Given the description of an element on the screen output the (x, y) to click on. 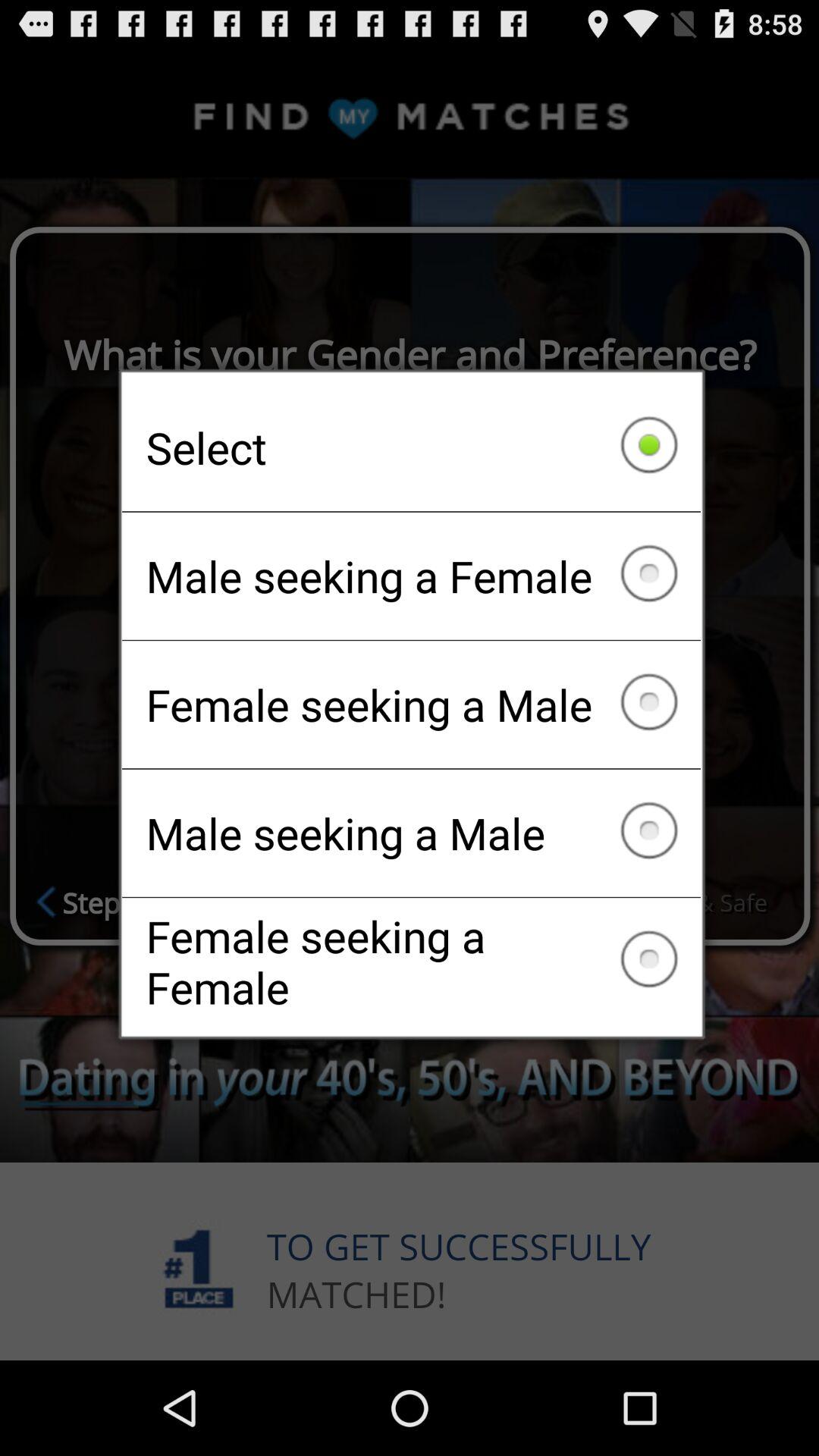
select icon at the top (411, 447)
